Given the description of an element on the screen output the (x, y) to click on. 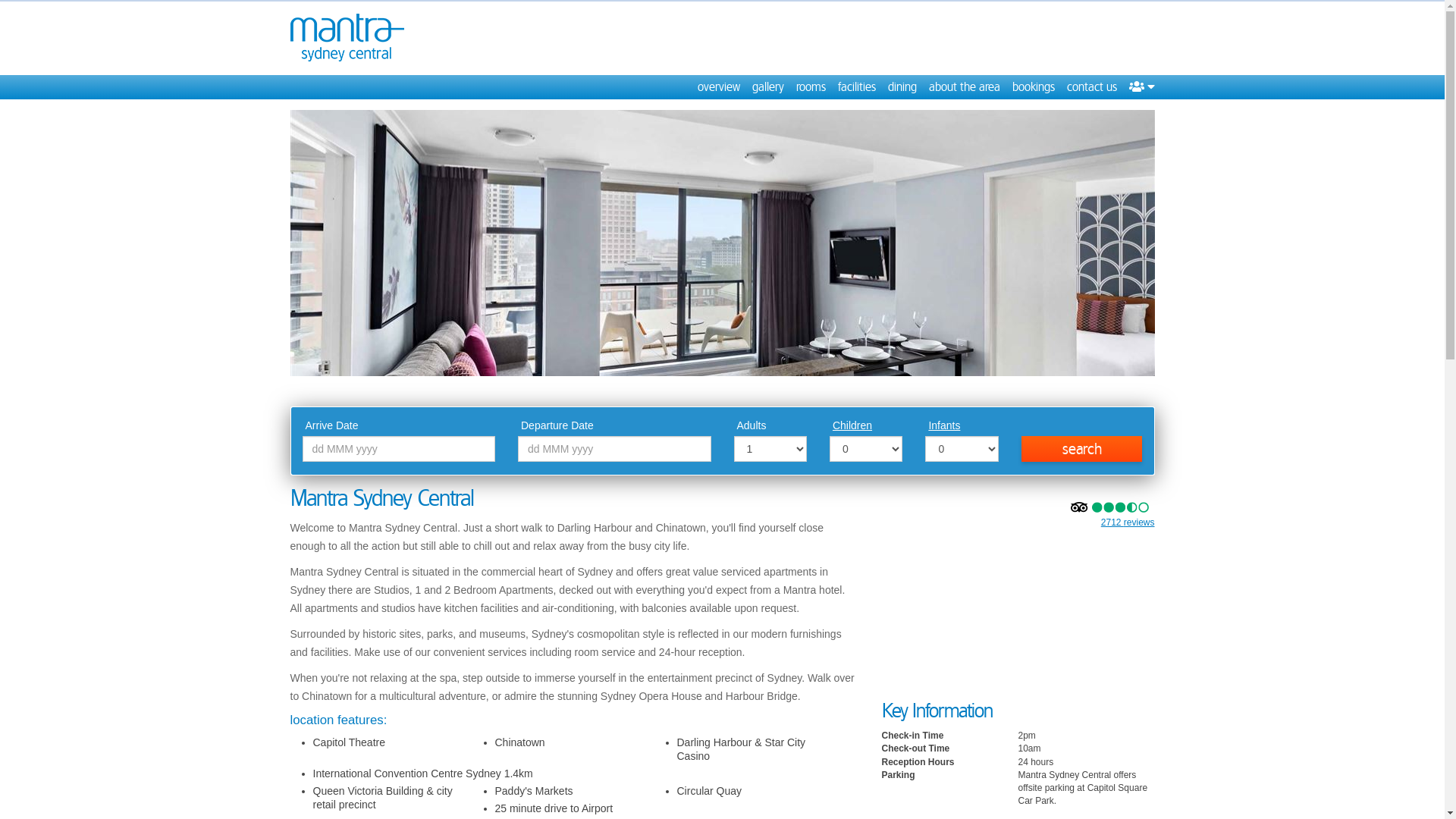
search Element type: text (1081, 448)
Mantra Sydney Central Element type: hover (346, 37)
facilities Element type: text (856, 87)
rooms Element type: text (810, 87)
bookings Element type: text (1032, 87)
2 Bedroom Apartment Lounge-Mantra Sydney Central Element type: hover (721, 242)
gallery Element type: text (768, 87)
overview Element type: text (718, 87)
about the area Element type: text (963, 87)
2712 reviews Element type: text (1127, 522)
contact us Element type: text (1091, 87)
dining Element type: text (901, 87)
